Given the description of an element on the screen output the (x, y) to click on. 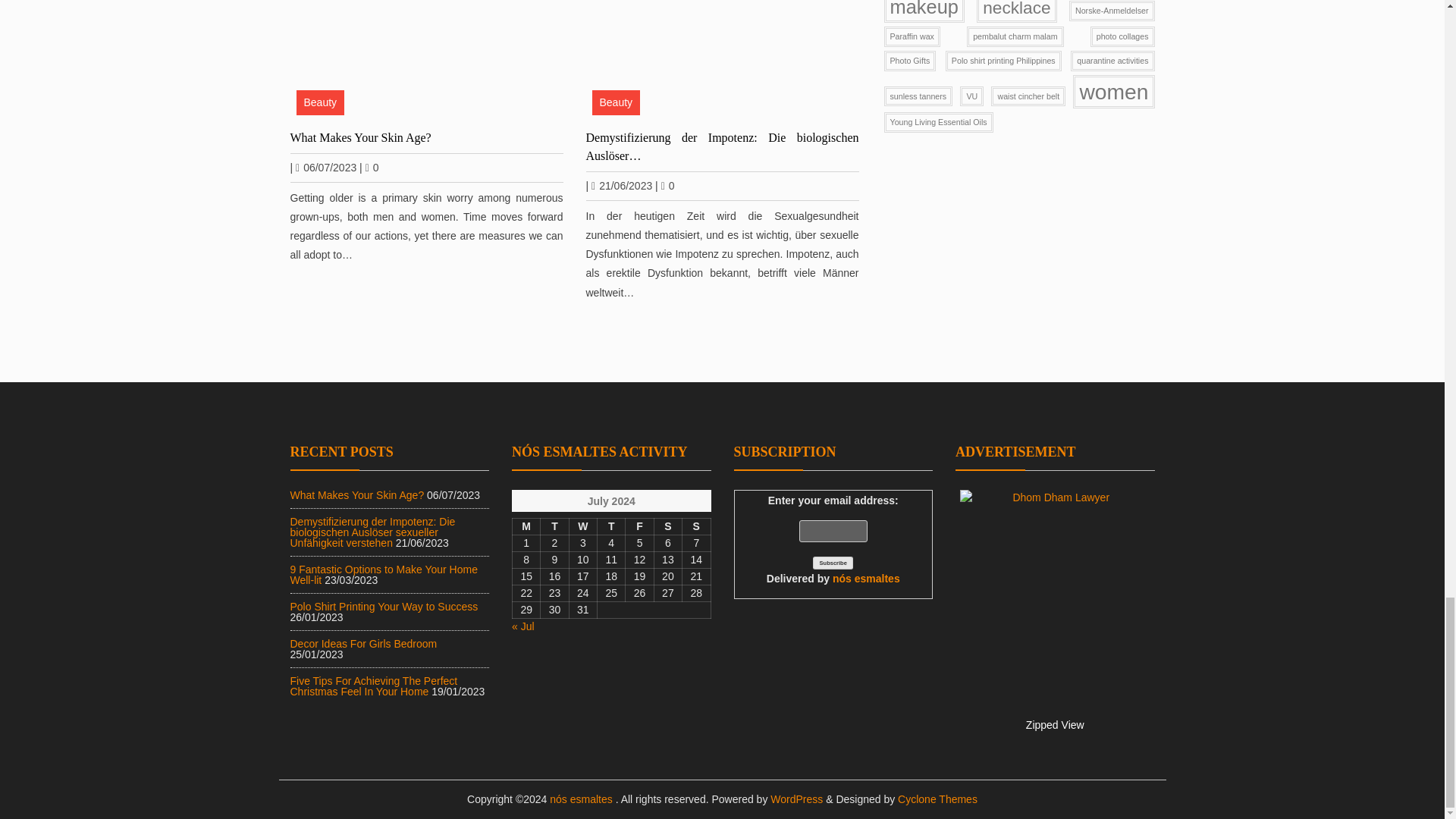
0 (371, 167)
Tuesday (554, 526)
Subscribe (832, 562)
Beauty (615, 102)
Monday (526, 526)
What Makes Your Skin Age? (425, 60)
Beauty (319, 102)
What Makes Your Skin Age? (425, 137)
